Given the description of an element on the screen output the (x, y) to click on. 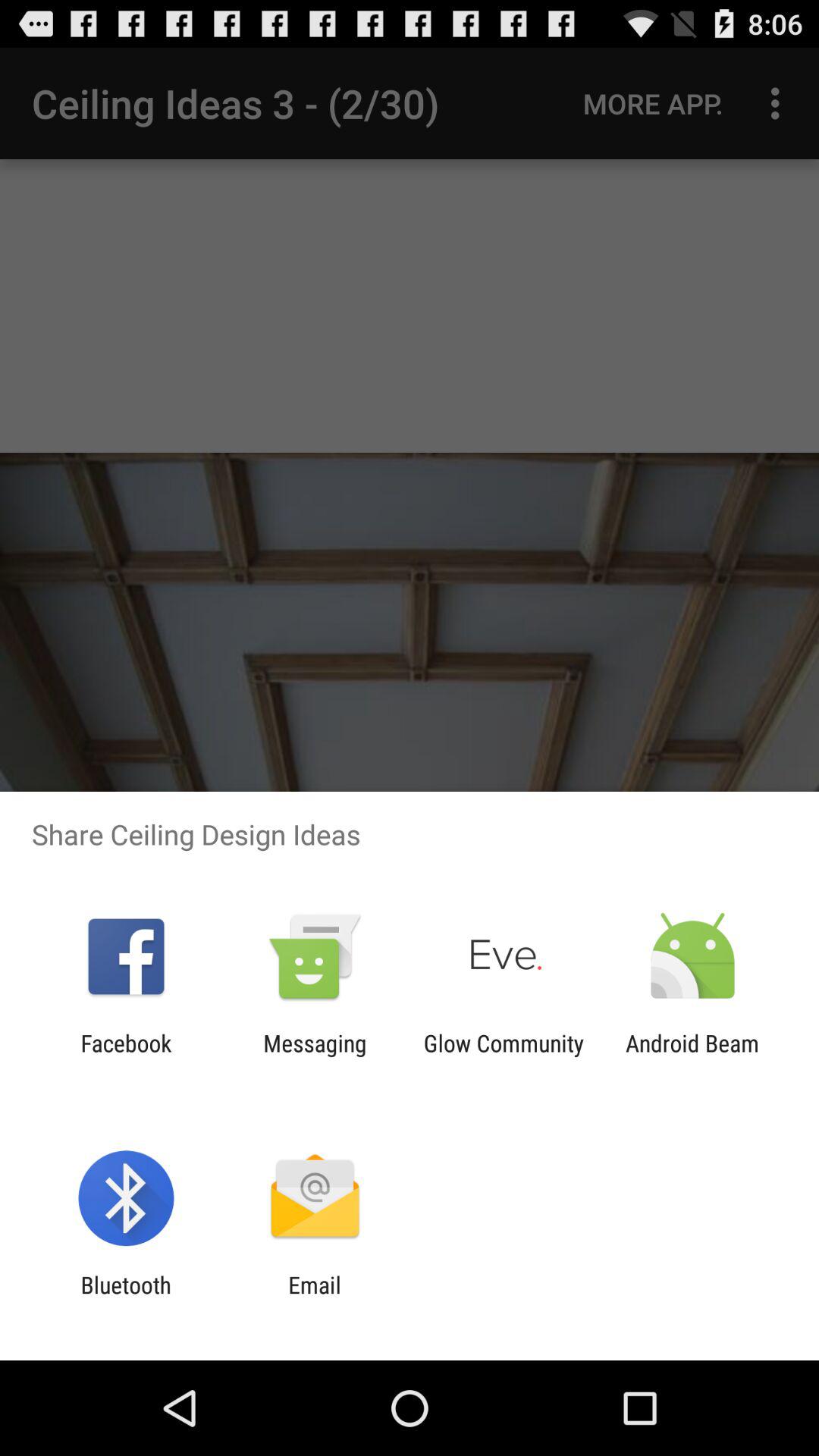
click android beam app (692, 1056)
